Given the description of an element on the screen output the (x, y) to click on. 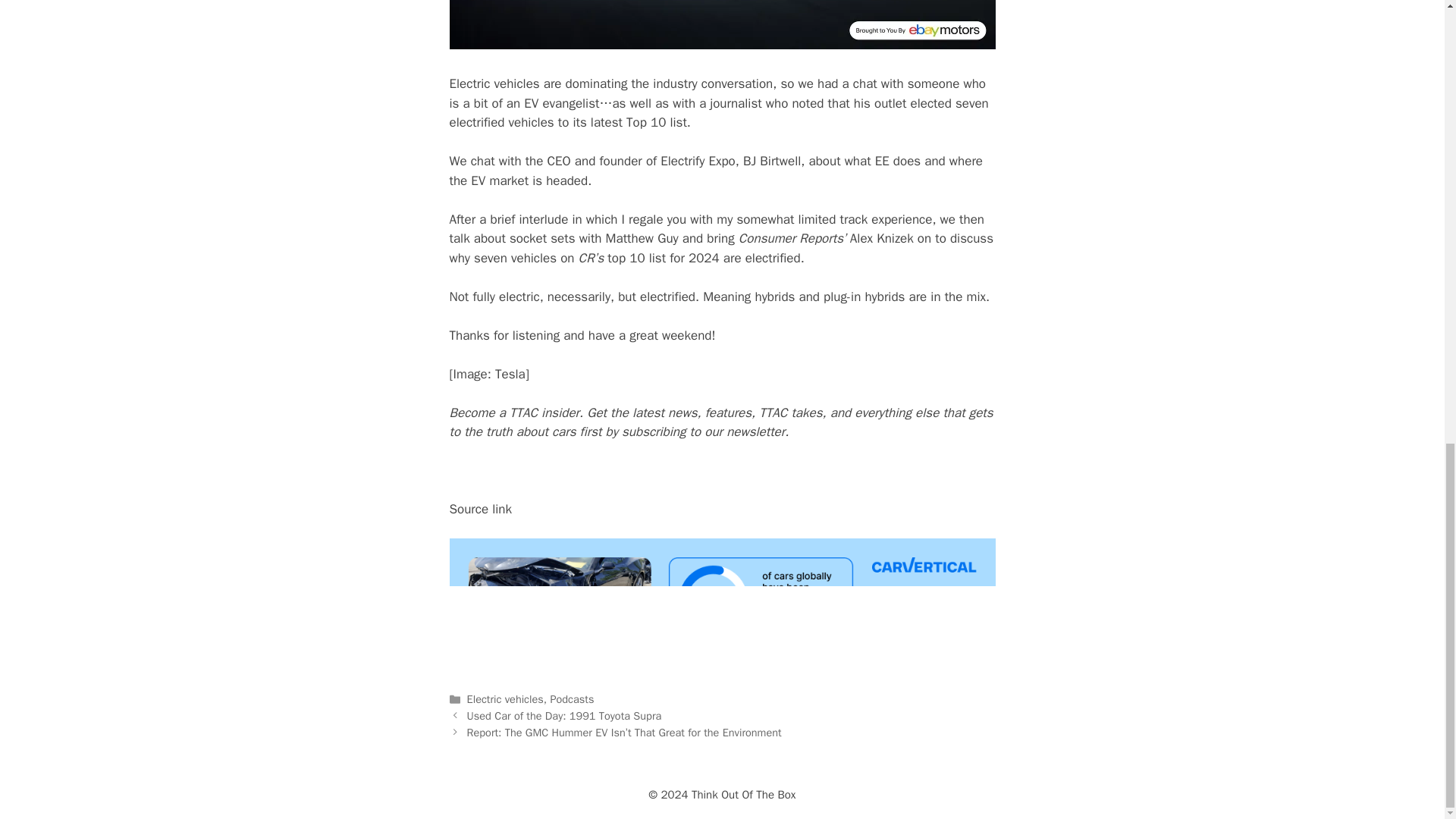
Electrify Expo (698, 160)
Matthew Guy (641, 238)
subscribing to our newsletter (702, 431)
Used Car of the Day: 1991 Toyota Supra (564, 715)
Scroll back to top (1406, 567)
Source link (480, 508)
Podcasts (572, 698)
top 10 list for 2024 (663, 258)
Electric vehicles (505, 698)
